Given the description of an element on the screen output the (x, y) to click on. 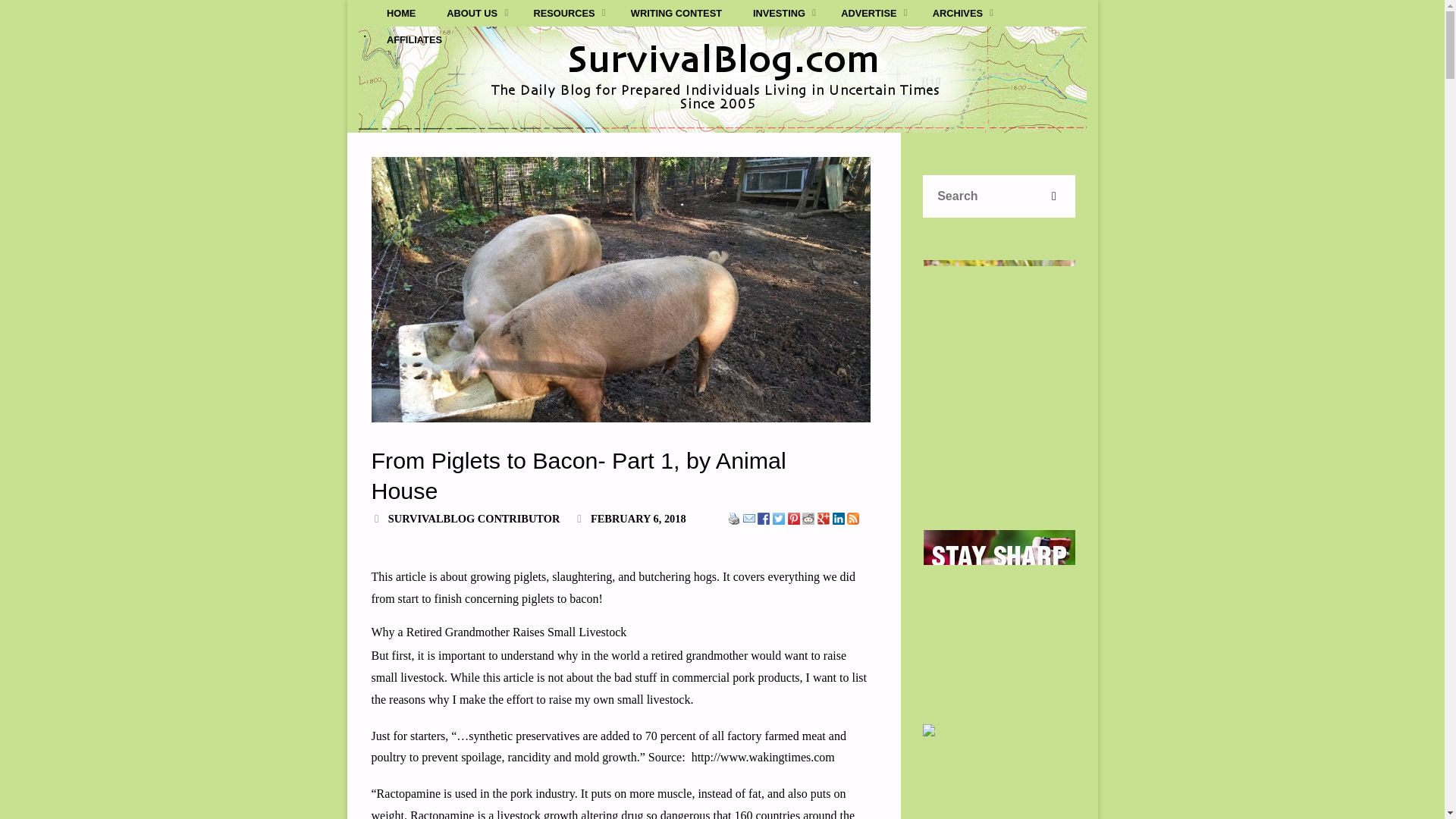
Email This Post (748, 517)
From Piglets to Bacon- Part 1, by Animal House (620, 289)
View all posts by SurvivalBlog Contributor (473, 518)
Email This Post (748, 518)
Print This Post (733, 517)
Print This Post (733, 518)
